Given the description of an element on the screen output the (x, y) to click on. 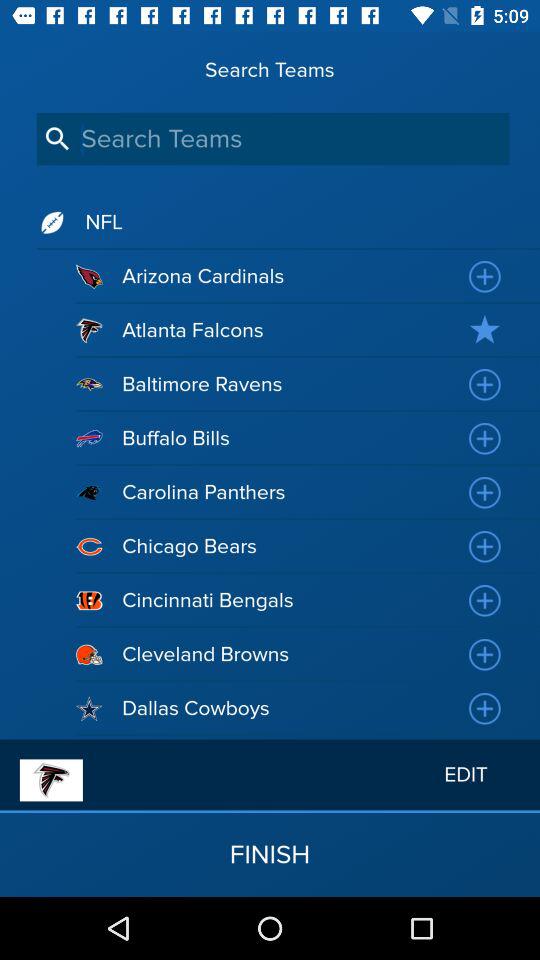
search teams (272, 138)
